Given the description of an element on the screen output the (x, y) to click on. 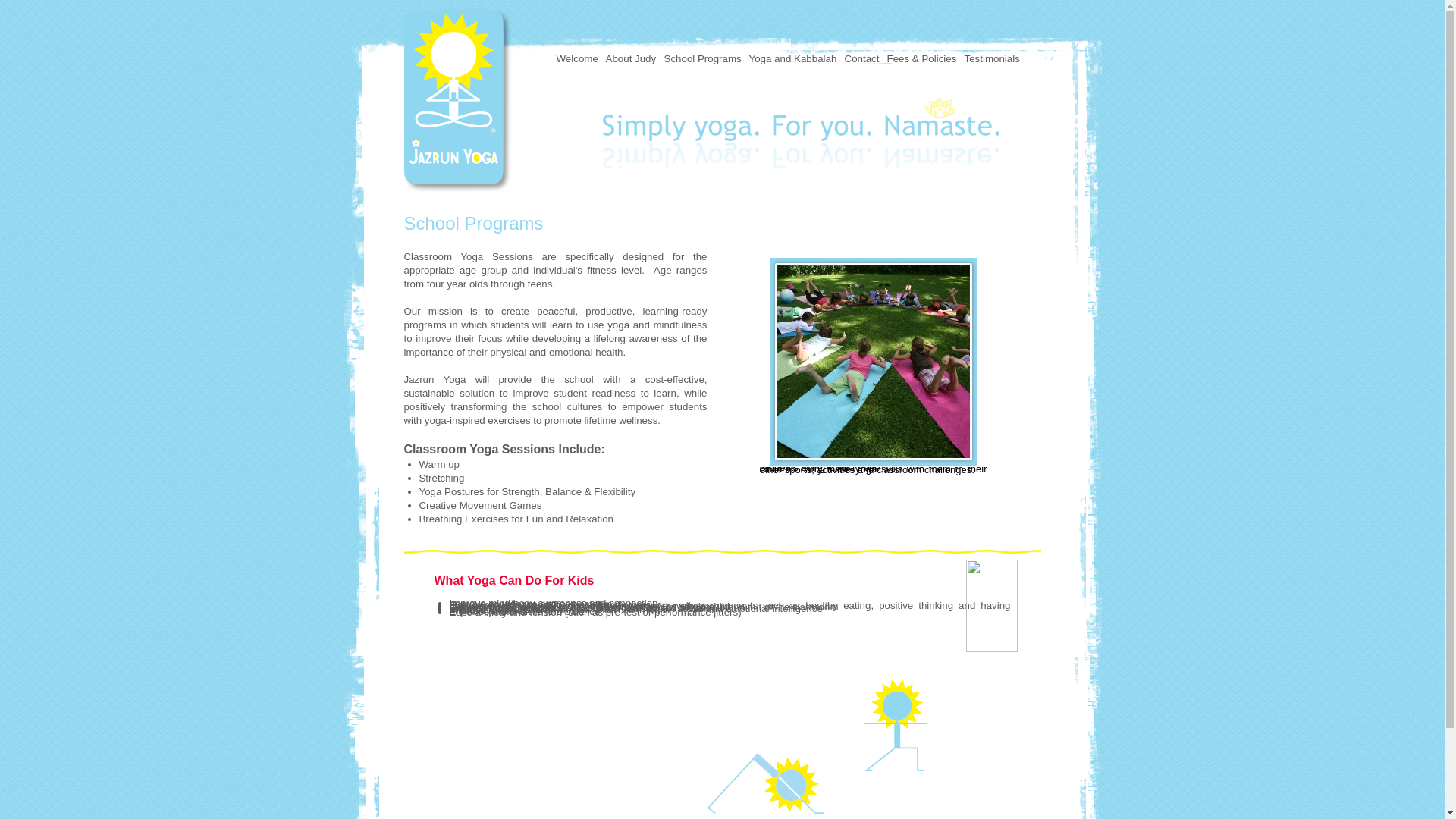
School Programs (702, 58)
School Programs (781, 678)
Welcome (577, 58)
Testimonials (1000, 678)
About Judy (630, 58)
Welcome (439, 678)
About Judy (480, 678)
Testimonials (991, 58)
Yoga and Kabbalah (792, 58)
Contact (901, 678)
Contact (861, 58)
Yoga and Kabbalah (849, 678)
